Given the description of an element on the screen output the (x, y) to click on. 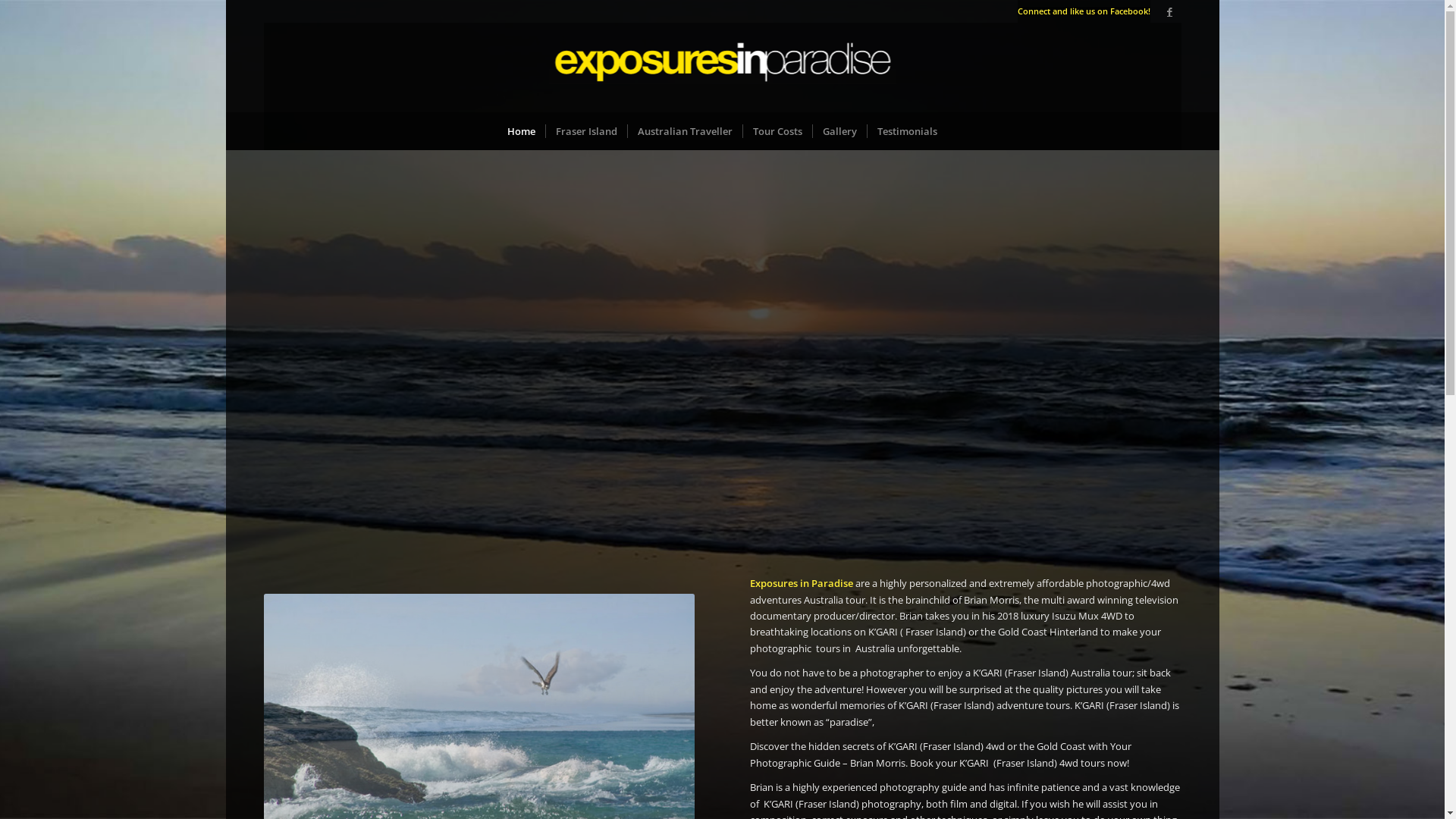
Fraser Island Element type: text (586, 131)
Testimonials Element type: text (906, 131)
australian-silver-axe-logo Element type: hover (722, 62)
Tour Costs Element type: text (777, 131)
Australian Traveller Element type: text (684, 131)
Home Element type: text (521, 131)
Facebook Element type: hover (1169, 11)
Gallery Element type: text (839, 131)
